Given the description of an element on the screen output the (x, y) to click on. 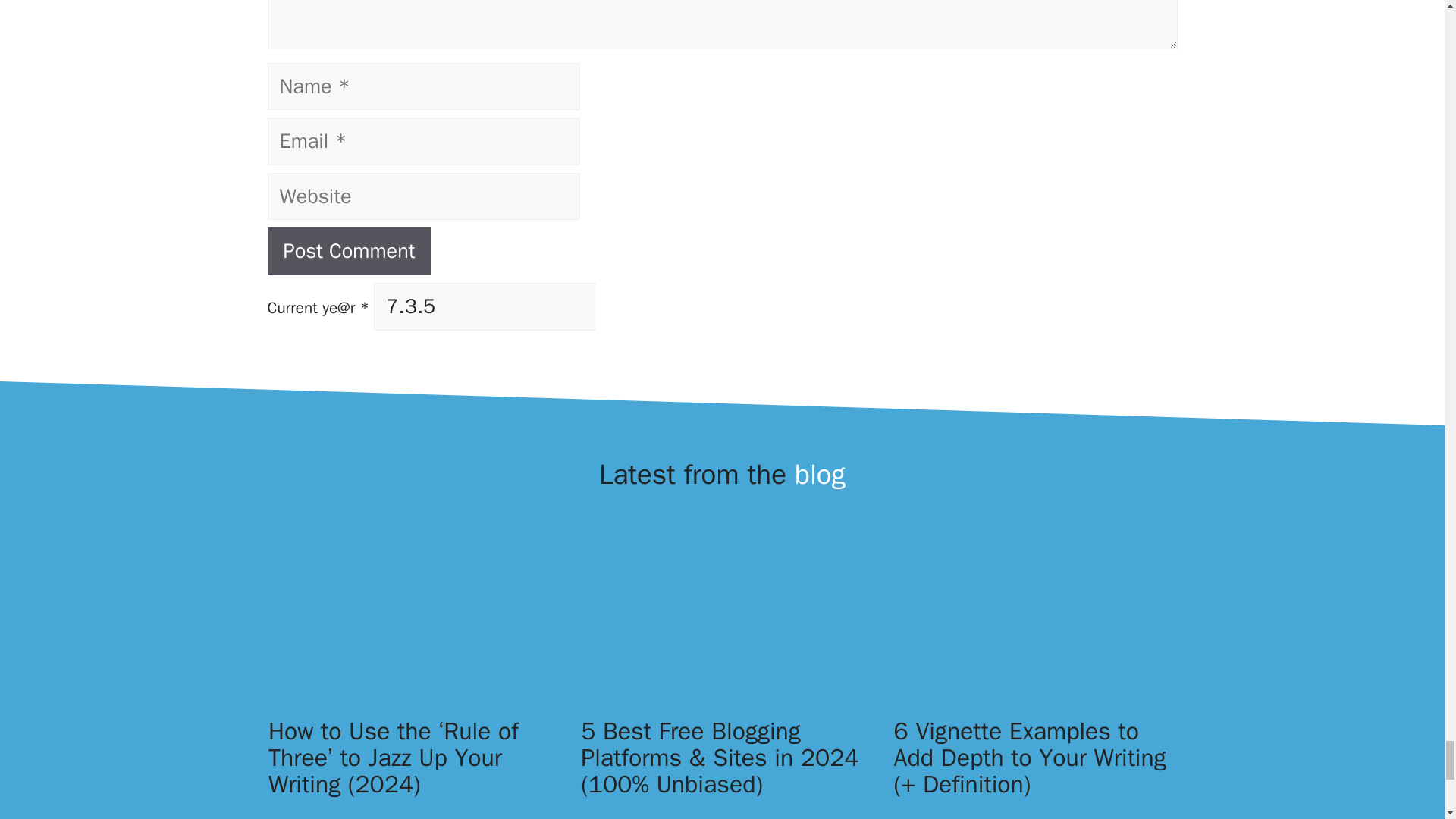
Post Comment (348, 251)
7.3.5 (484, 306)
